Given the description of an element on the screen output the (x, y) to click on. 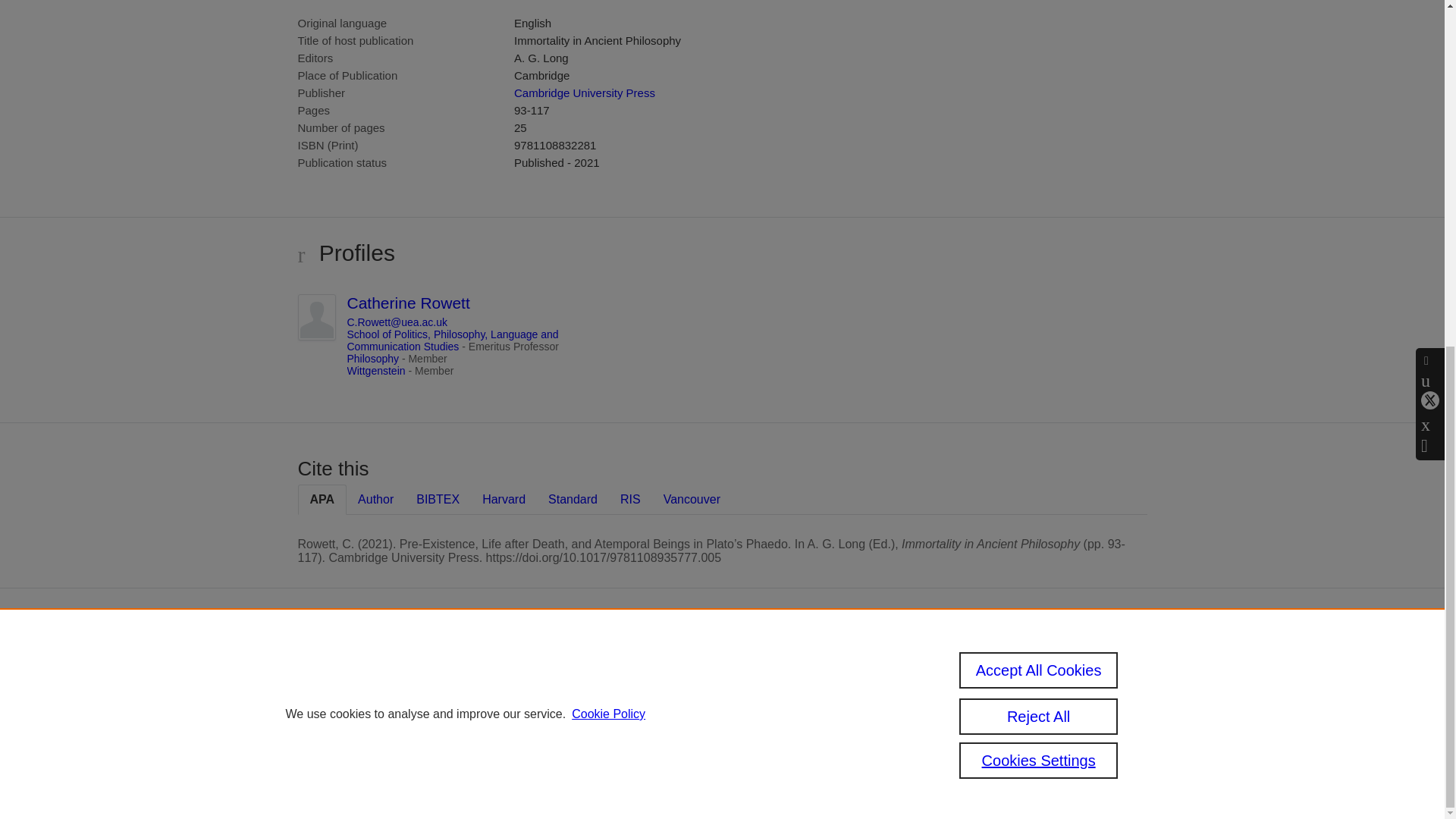
Cookies Settings (591, 759)
Scopus (652, 663)
Cambridge University Press (584, 92)
use of cookies (660, 738)
Pure (620, 663)
Elsevier B.V. (764, 684)
Catherine Rowett (408, 303)
Wittgenstein (376, 370)
Philosophy (372, 358)
